Given the description of an element on the screen output the (x, y) to click on. 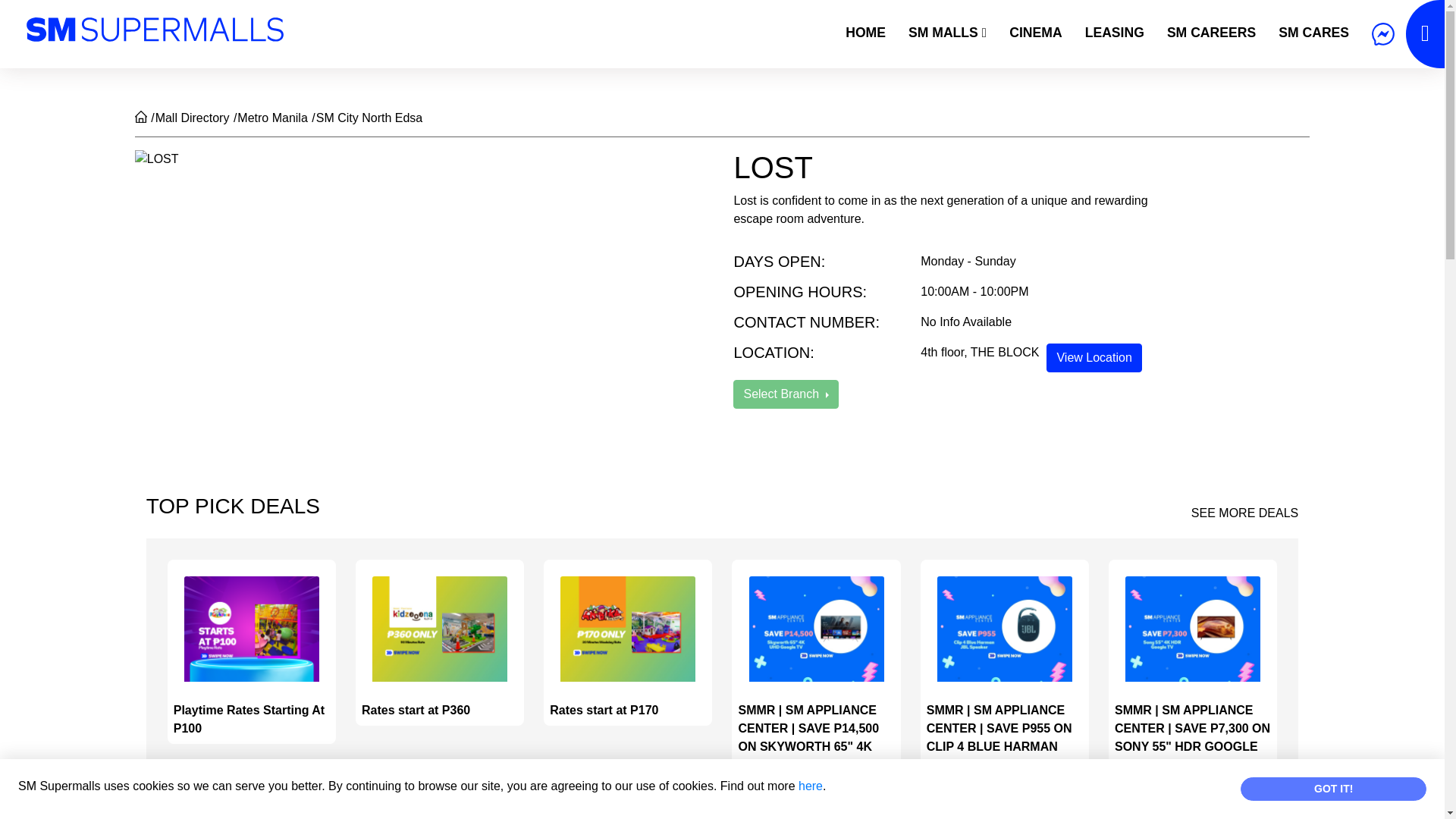
Playtime Rates Starting At P100 (251, 651)
SEE MORE DEALS (1244, 512)
SM MALLS (946, 32)
View Location (1093, 357)
SM CAREERS (1211, 32)
SM CARES (1312, 32)
Mall Directory (192, 117)
CINEMA (1035, 32)
SM City North Edsa (368, 117)
Metro Manila (272, 117)
LEASING (1115, 32)
Select Branch (785, 394)
HOME (865, 32)
